Given the description of an element on the screen output the (x, y) to click on. 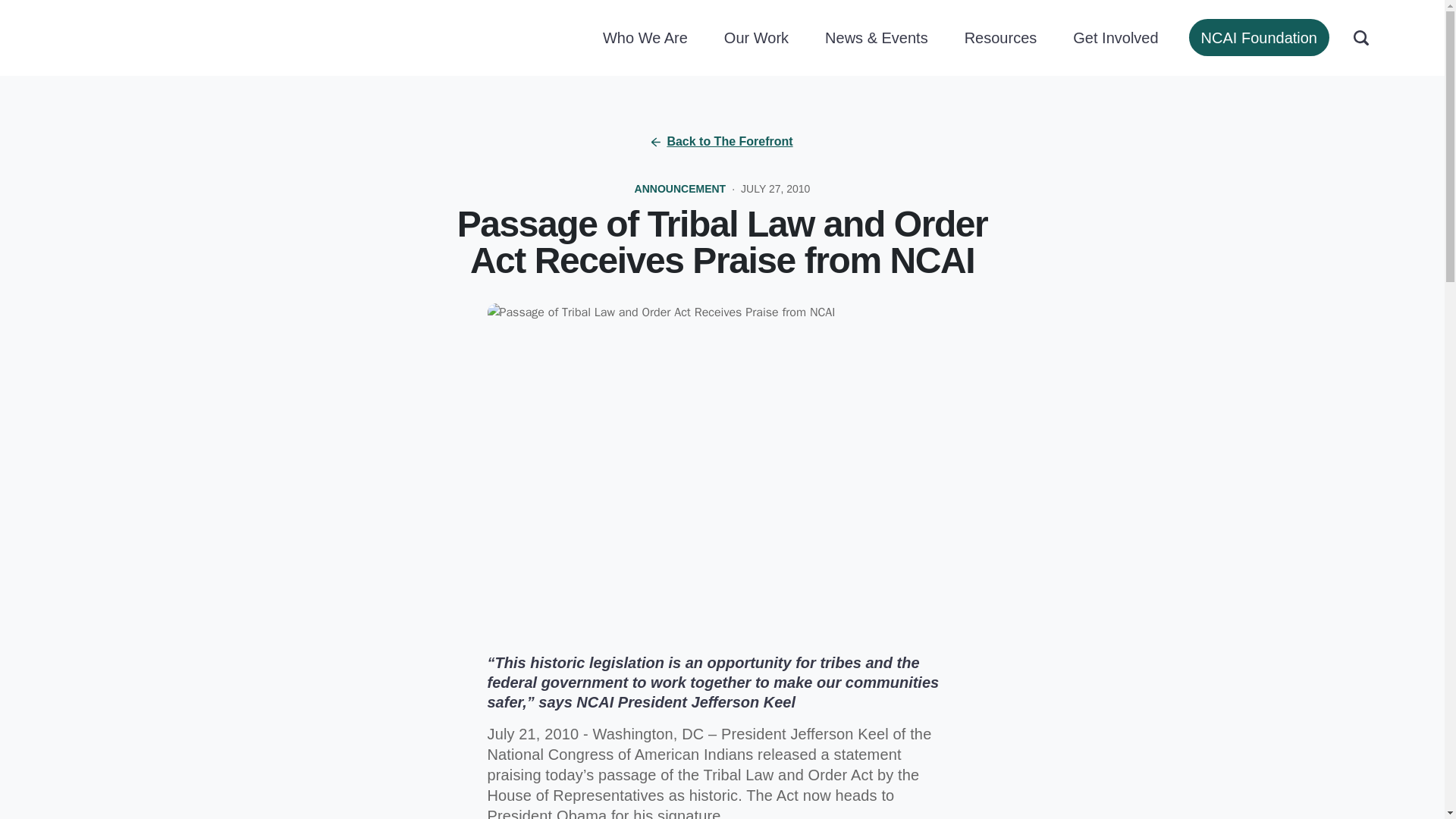
Our Work (755, 37)
Resources (1000, 37)
NCAI Foundation (1259, 37)
Back to The Forefront (721, 141)
Who We Are (645, 37)
Get Involved (1115, 37)
